Given the description of an element on the screen output the (x, y) to click on. 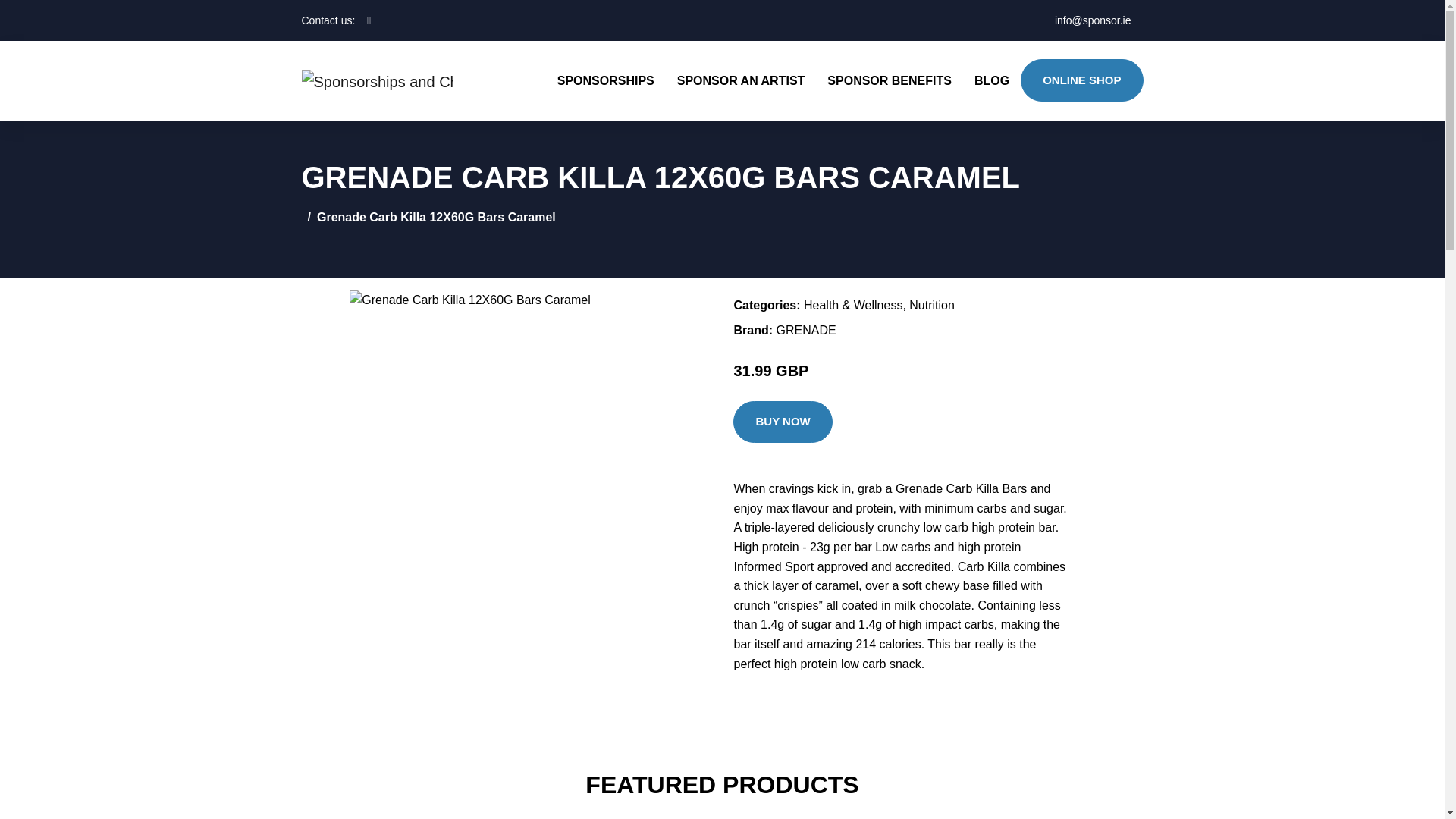
ONLINE SHOP (1081, 79)
SPONSOR BENEFITS (888, 80)
SPONSORSHIPS (605, 80)
BLOG (991, 80)
SPONSOR AN ARTIST (740, 80)
BUY NOW (782, 422)
Nutrition (931, 305)
